Given the description of an element on the screen output the (x, y) to click on. 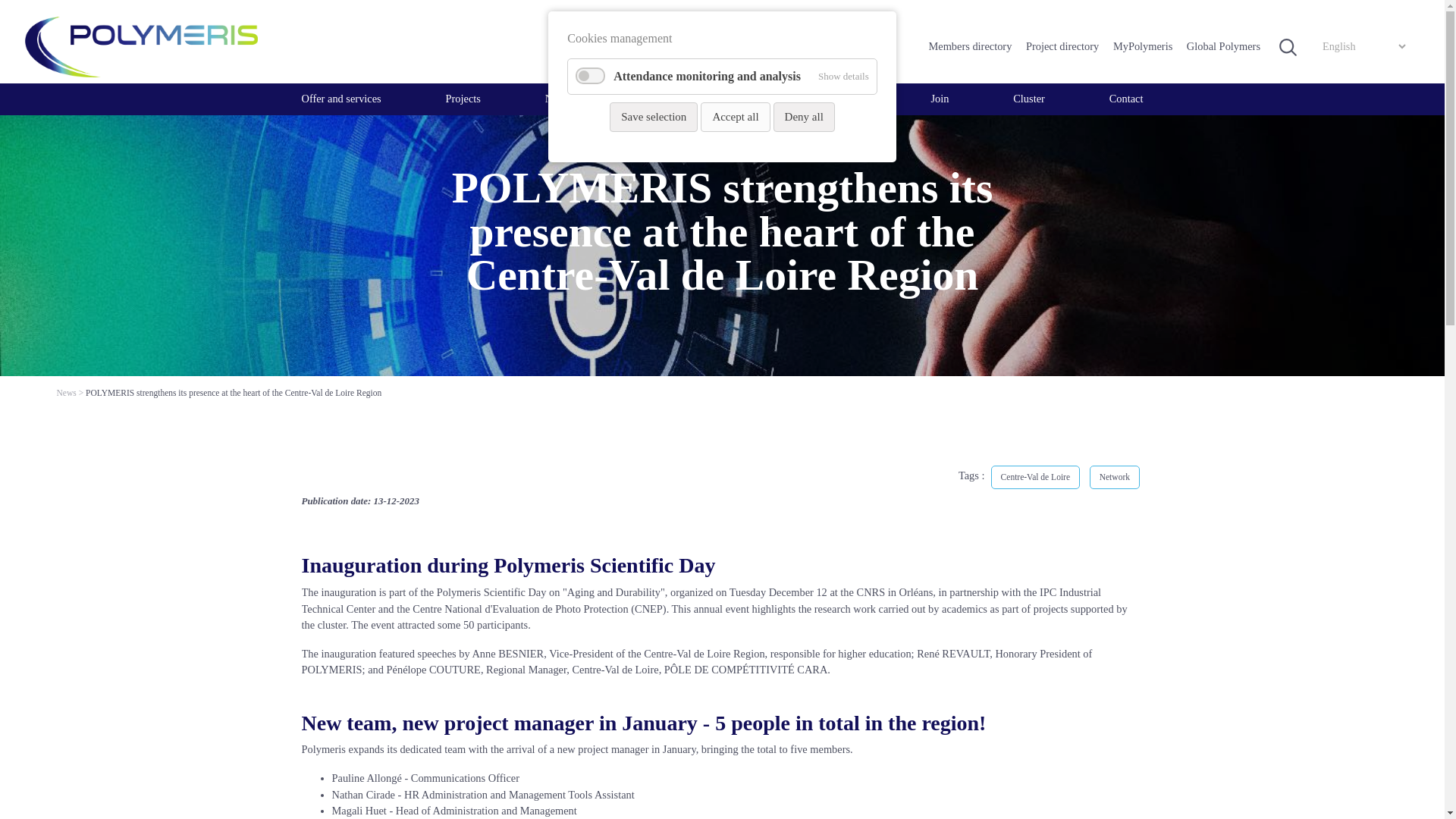
Cluster (1029, 99)
Polymeris (140, 46)
Global Polymers (1225, 46)
contactez-nous (1125, 99)
Members directory (971, 46)
Offer and services (341, 99)
Contact (1125, 99)
Network (563, 99)
Global Polymers (1225, 46)
Offer and services (341, 99)
